Given the description of an element on the screen output the (x, y) to click on. 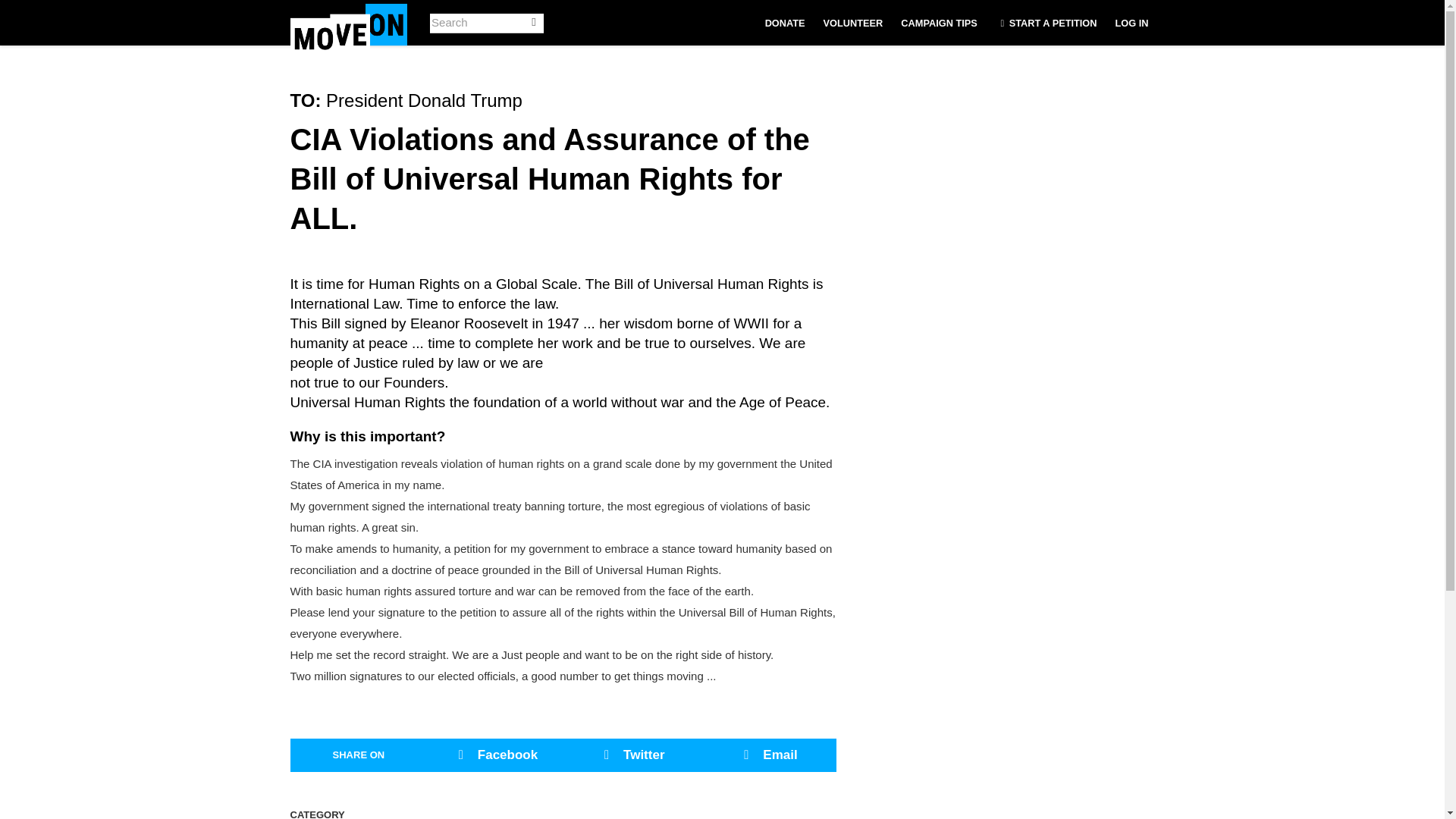
CAMPAIGN TIPS (938, 22)
START A PETITION (1046, 22)
Share on Twitter (631, 755)
Twitter (631, 755)
DONATE (784, 22)
VOLUNTEER (852, 22)
Share on Facebook (494, 755)
Email (766, 755)
Share via Email (766, 755)
LOG IN (1131, 22)
Facebook (494, 755)
